Given the description of an element on the screen output the (x, y) to click on. 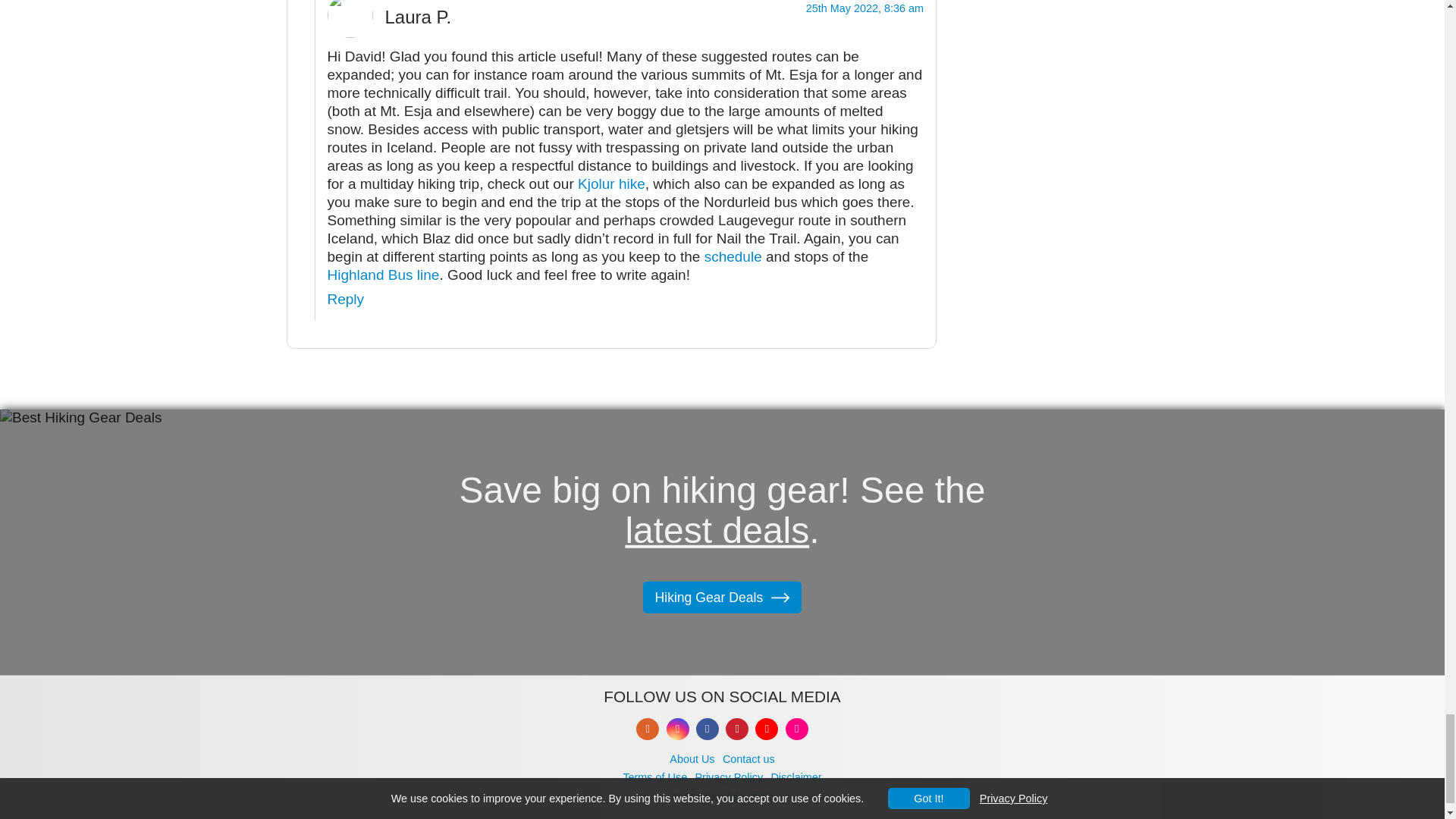
Best Hiking Gear Deals (722, 597)
Subscribe to RSS Feed (647, 729)
Follow us on Instagram (677, 729)
